Given the description of an element on the screen output the (x, y) to click on. 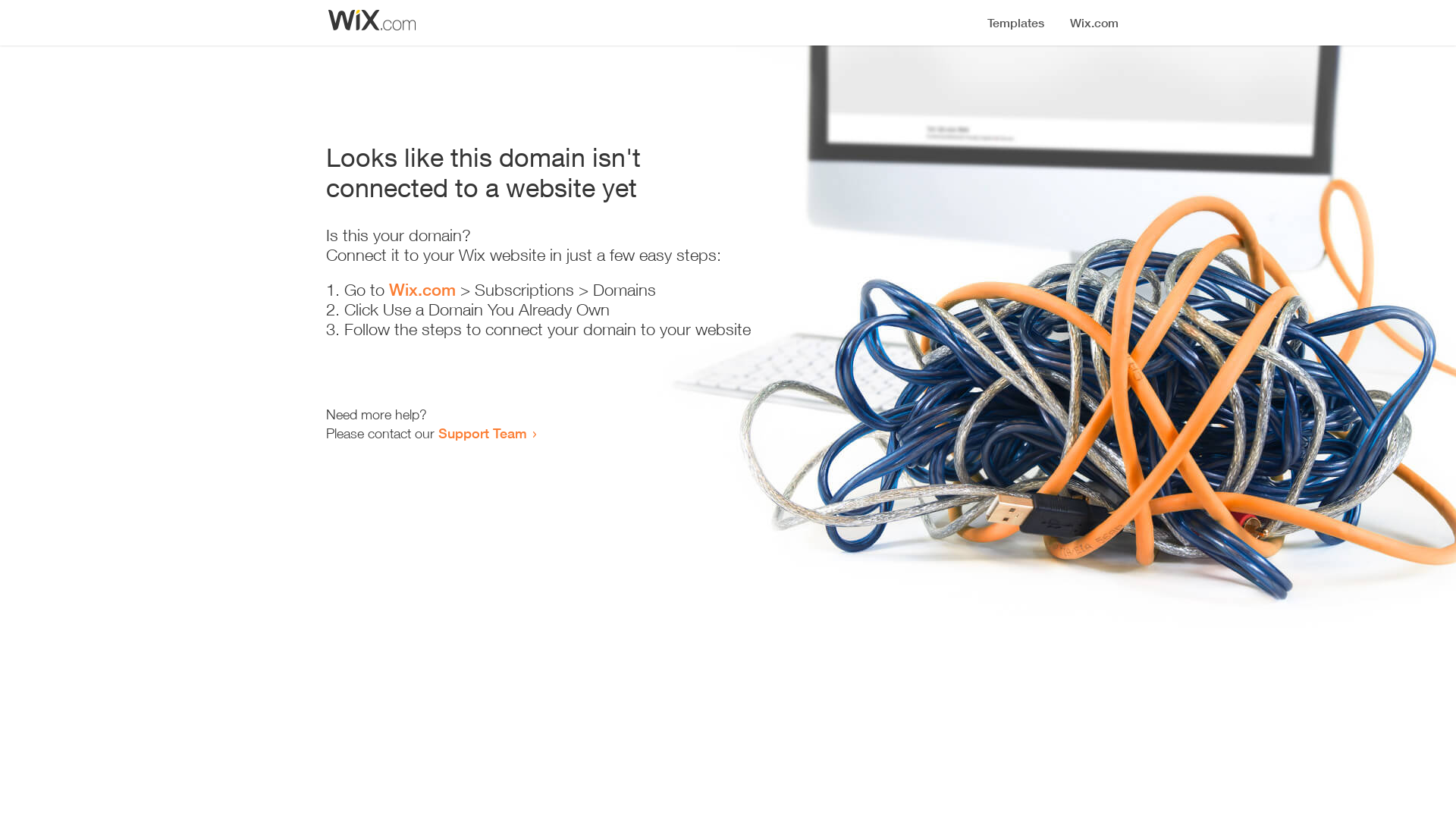
Support Team Element type: text (482, 432)
Wix.com Element type: text (422, 289)
